Given the description of an element on the screen output the (x, y) to click on. 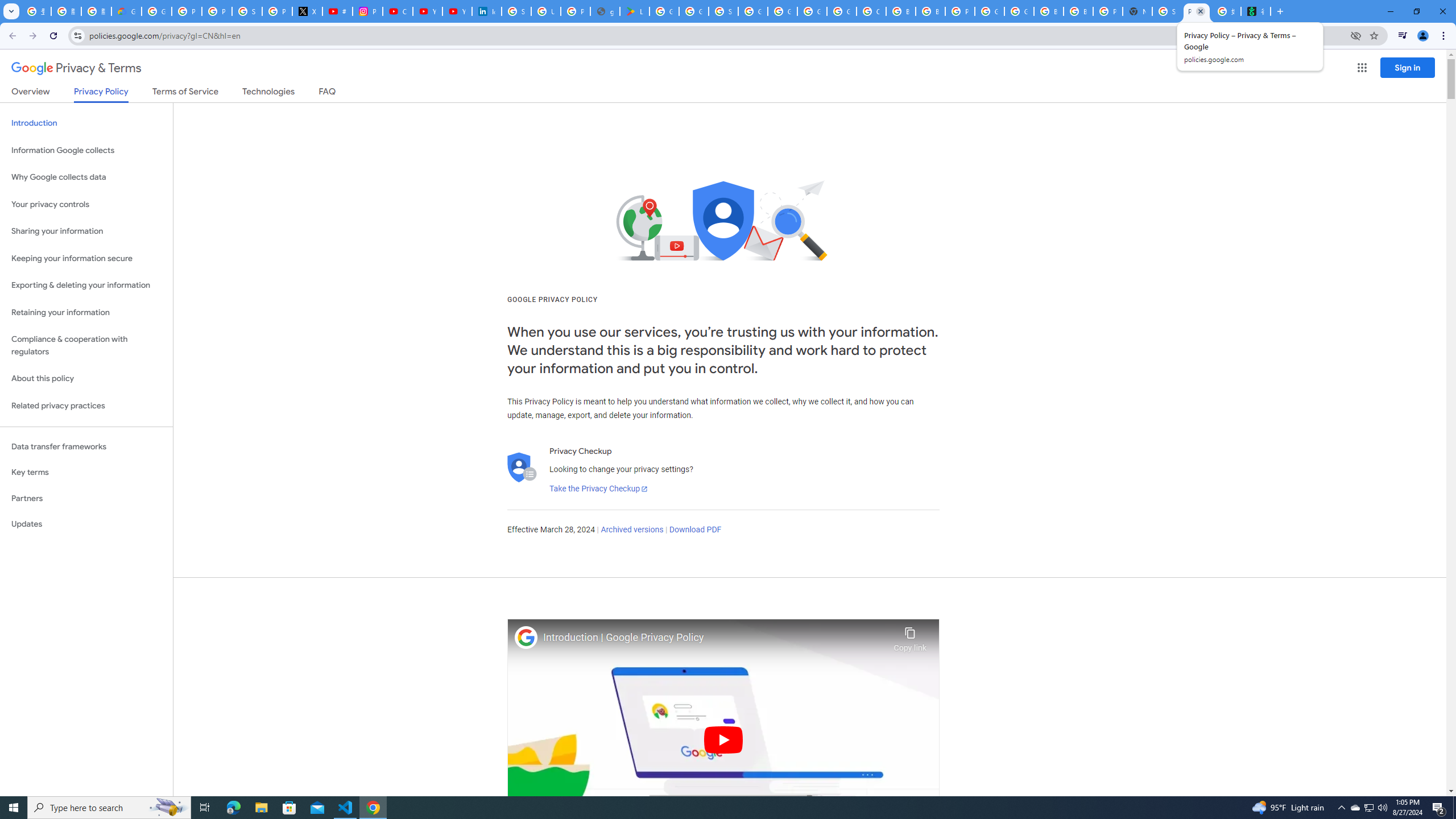
New Tab (1137, 11)
Introduction | Google Privacy Policy (715, 637)
Sign in - Google Accounts (247, 11)
